Given the description of an element on the screen output the (x, y) to click on. 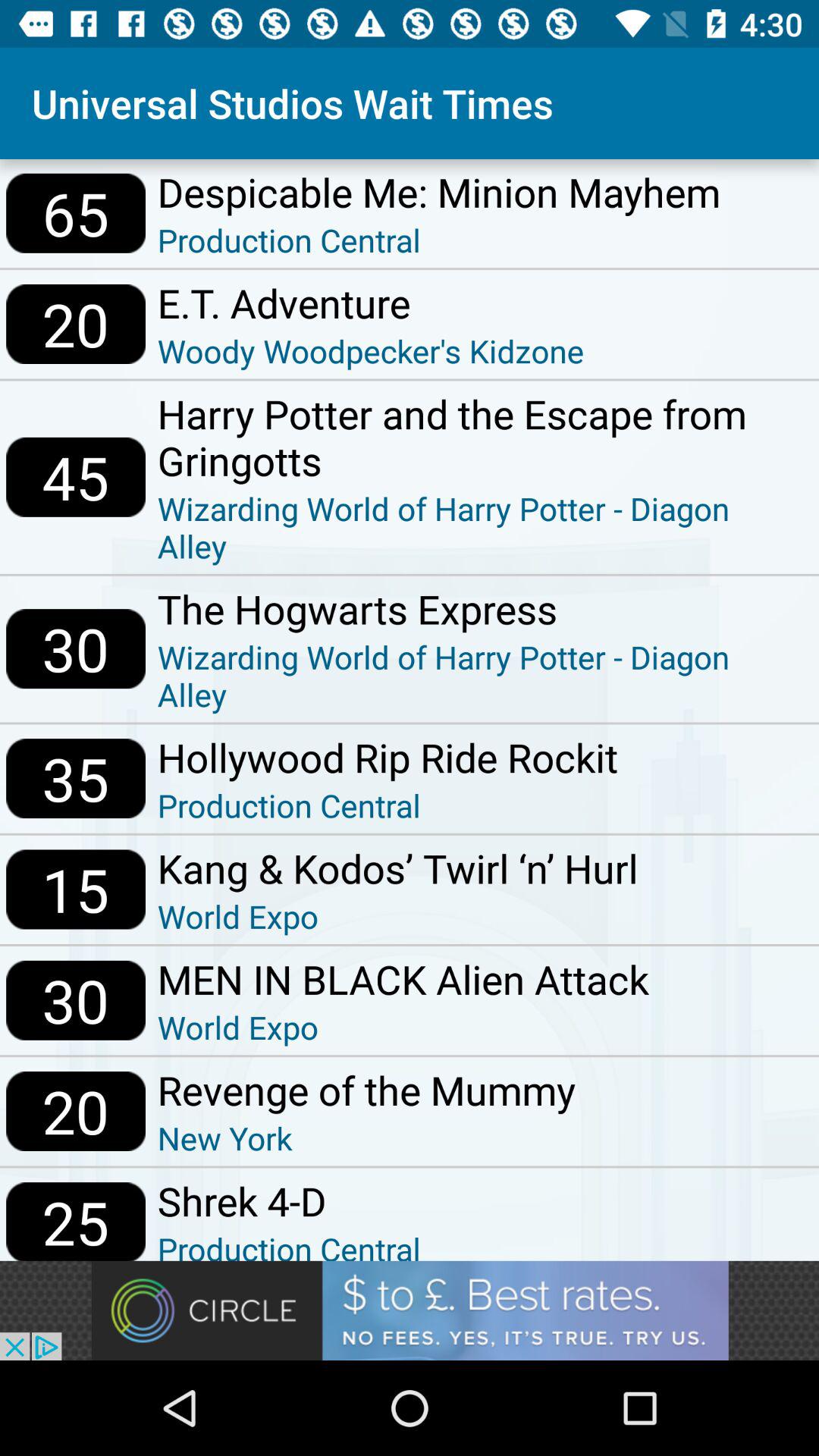
click item above wizarding world of icon (481, 608)
